Given the description of an element on the screen output the (x, y) to click on. 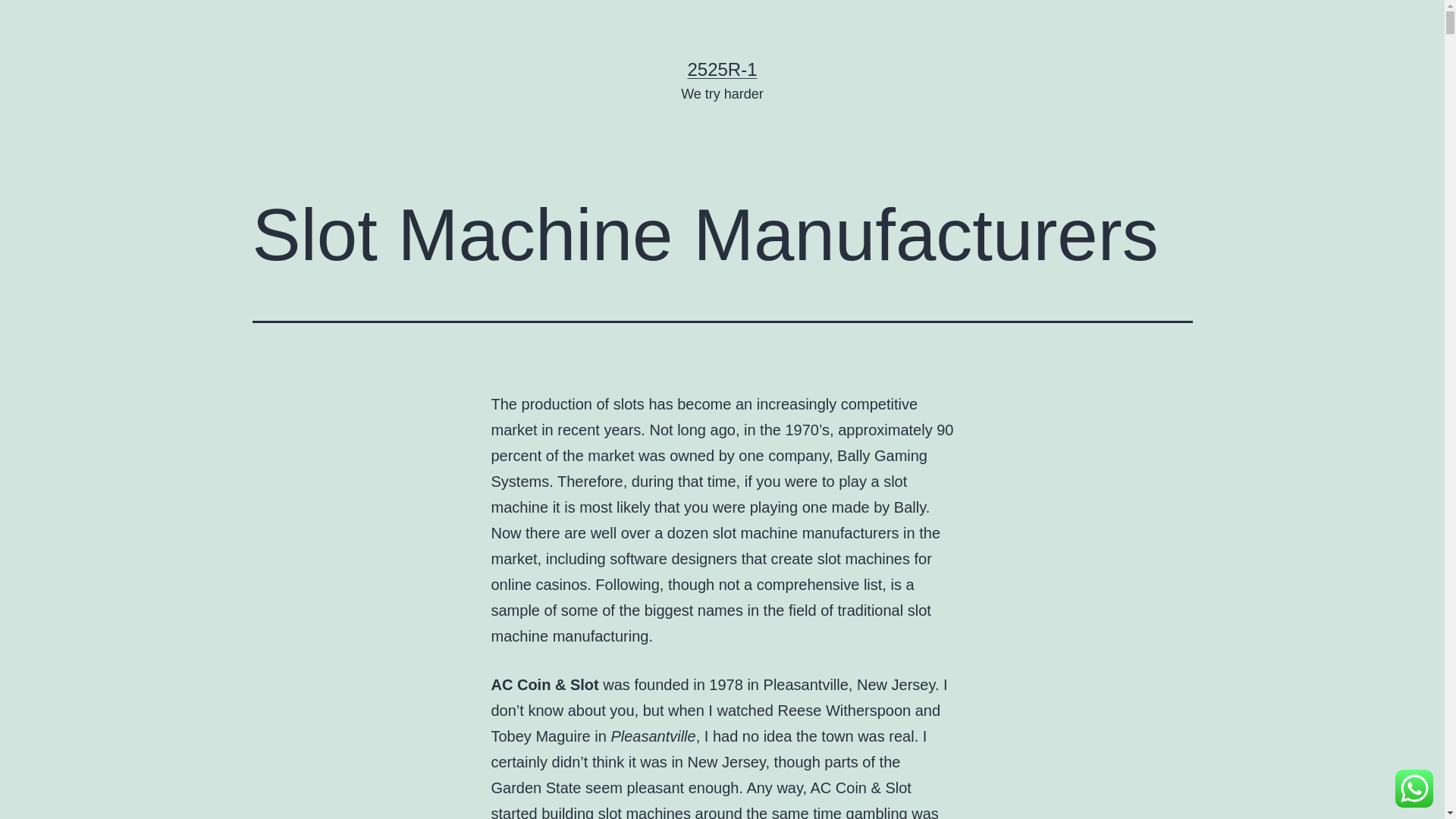
2525R-1 Element type: text (721, 69)
